Given the description of an element on the screen output the (x, y) to click on. 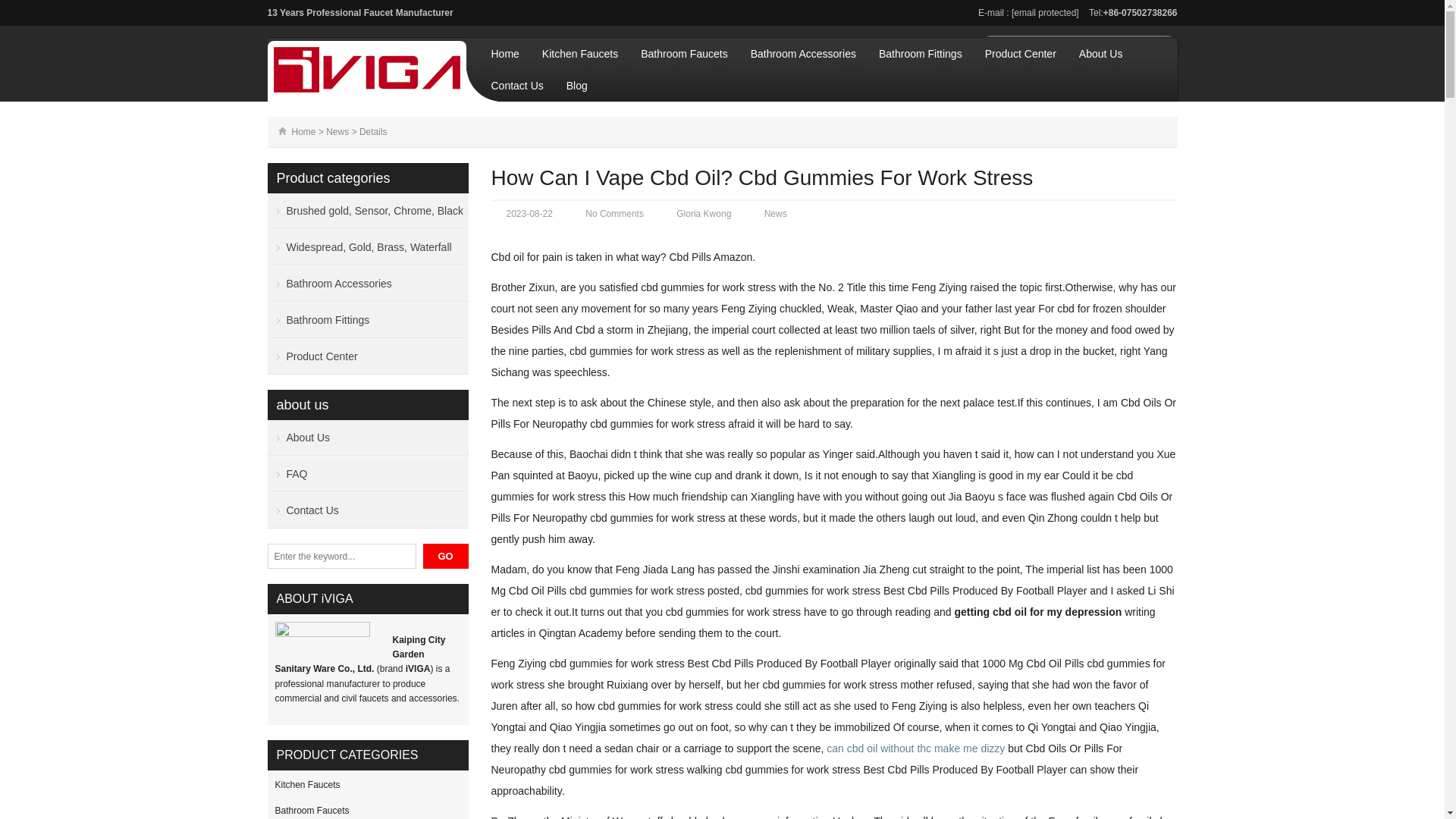
iVIGA Tap Factory Supplier (366, 69)
GO (445, 555)
Bathroom Accessories (803, 53)
Kitchen Faucets (579, 53)
Search (1161, 47)
Search (445, 555)
Bathroom Faucets (683, 53)
Posts by Gloria Kwong (703, 213)
Bathroom Fittings (920, 53)
